Given the description of an element on the screen output the (x, y) to click on. 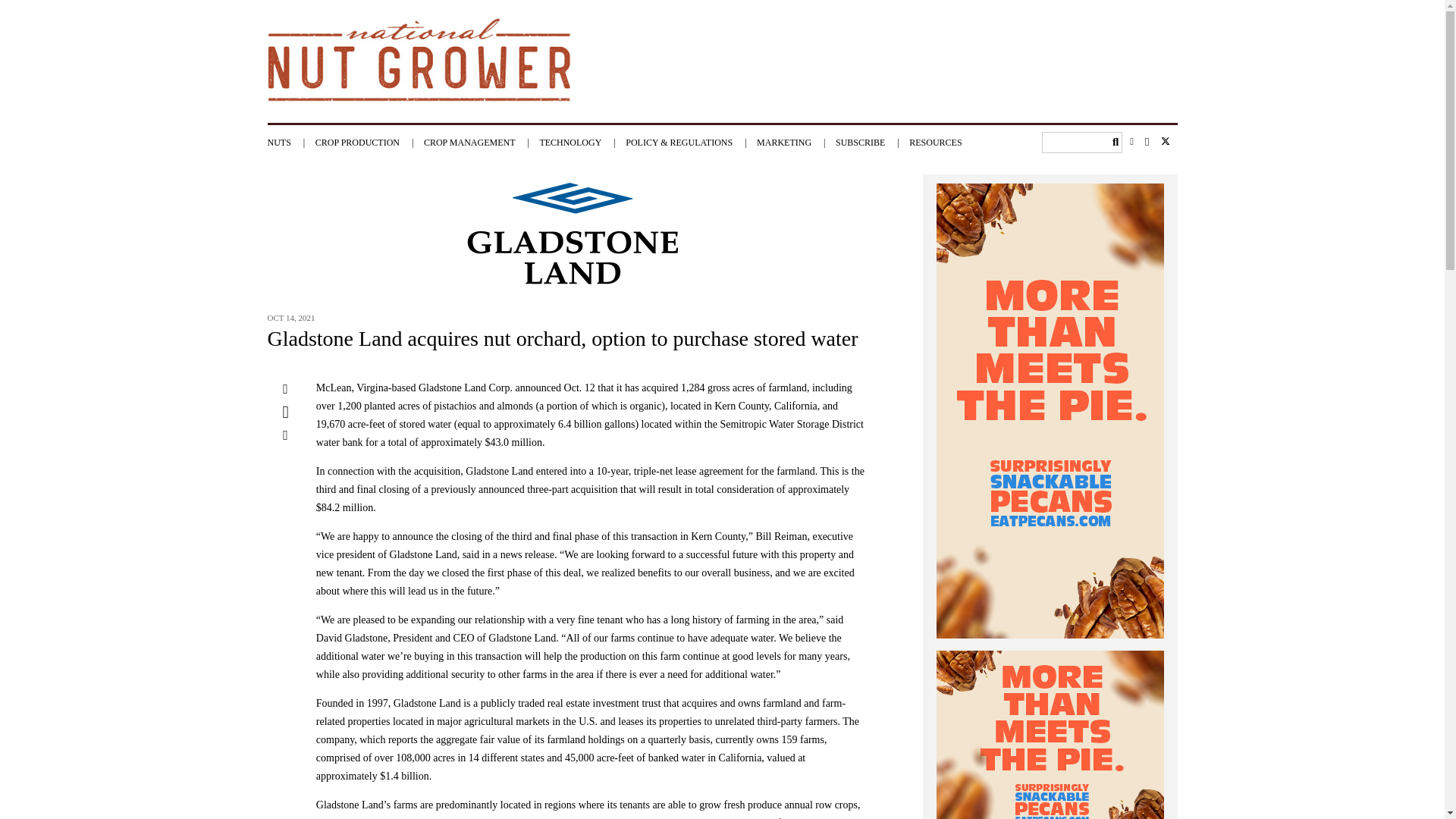
MARKETING (794, 142)
TECHNOLOGY (580, 142)
CROP MANAGEMENT (480, 142)
RESOURCES (938, 142)
NUTS (289, 142)
SUBSCRIBE (871, 142)
CROP PRODUCTION (368, 142)
